Given the description of an element on the screen output the (x, y) to click on. 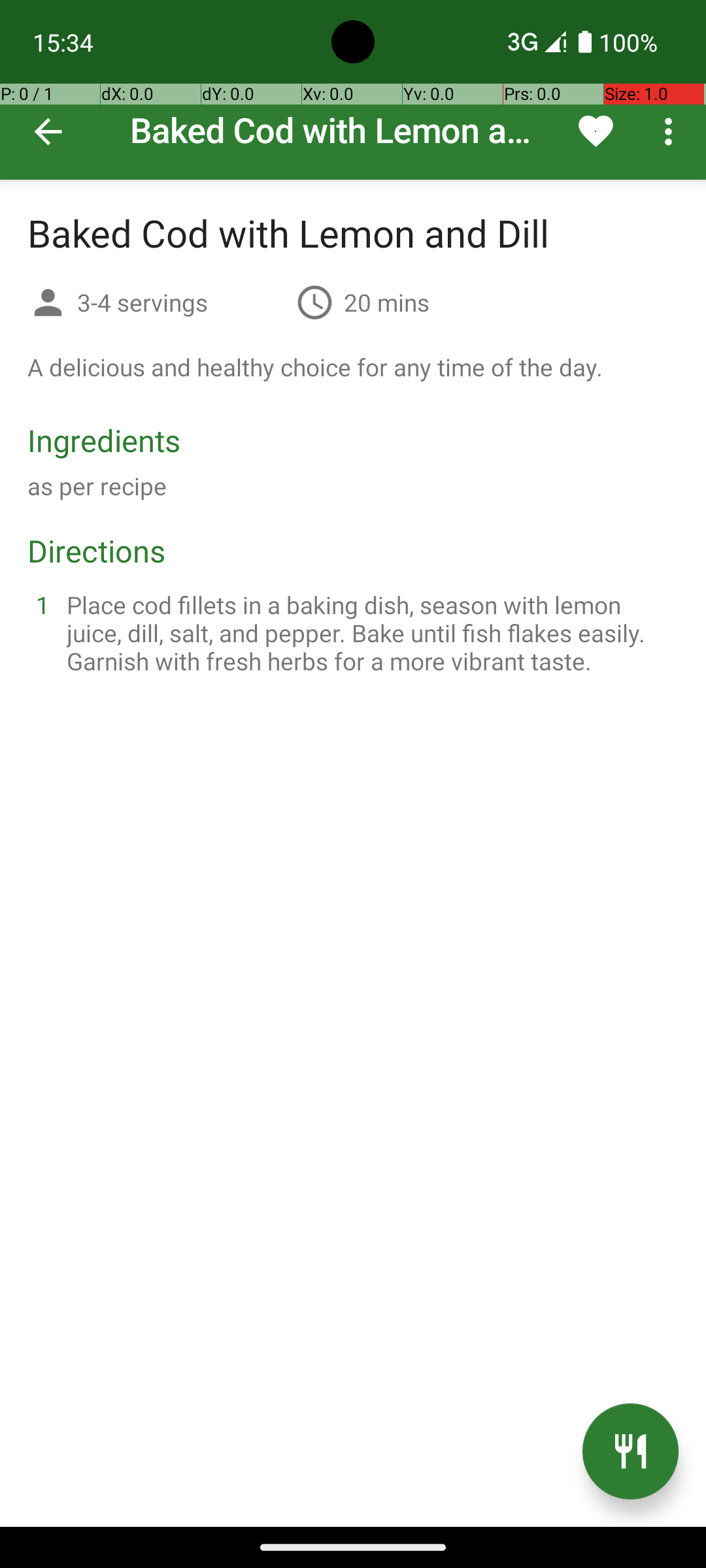
as per recipe Element type: android.widget.TextView (96, 485)
Place cod fillets in a baking dish, season with lemon juice, dill, salt, and pepper. Bake until fish flakes easily. Garnish with fresh herbs for a more vibrant taste. Element type: android.widget.TextView (368, 632)
